Given the description of an element on the screen output the (x, y) to click on. 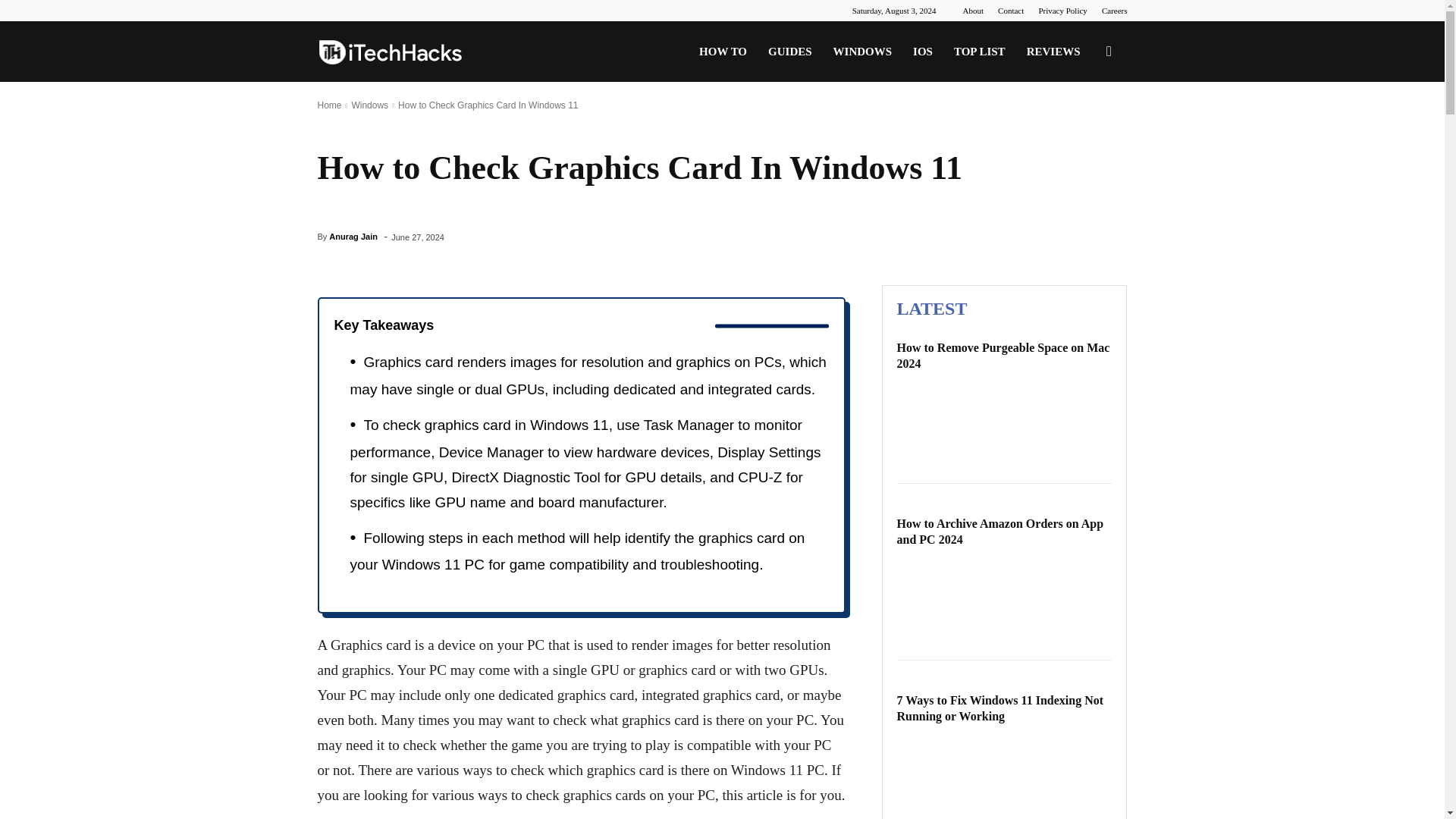
Facebook (328, 10)
Privacy Policy (1062, 10)
Home (328, 104)
Anurag Jain (353, 236)
HOW TO (722, 51)
Twitter (379, 10)
Pinterest (353, 10)
REVIEWS (1053, 51)
TOP LIST (979, 51)
About (973, 10)
